Given the description of an element on the screen output the (x, y) to click on. 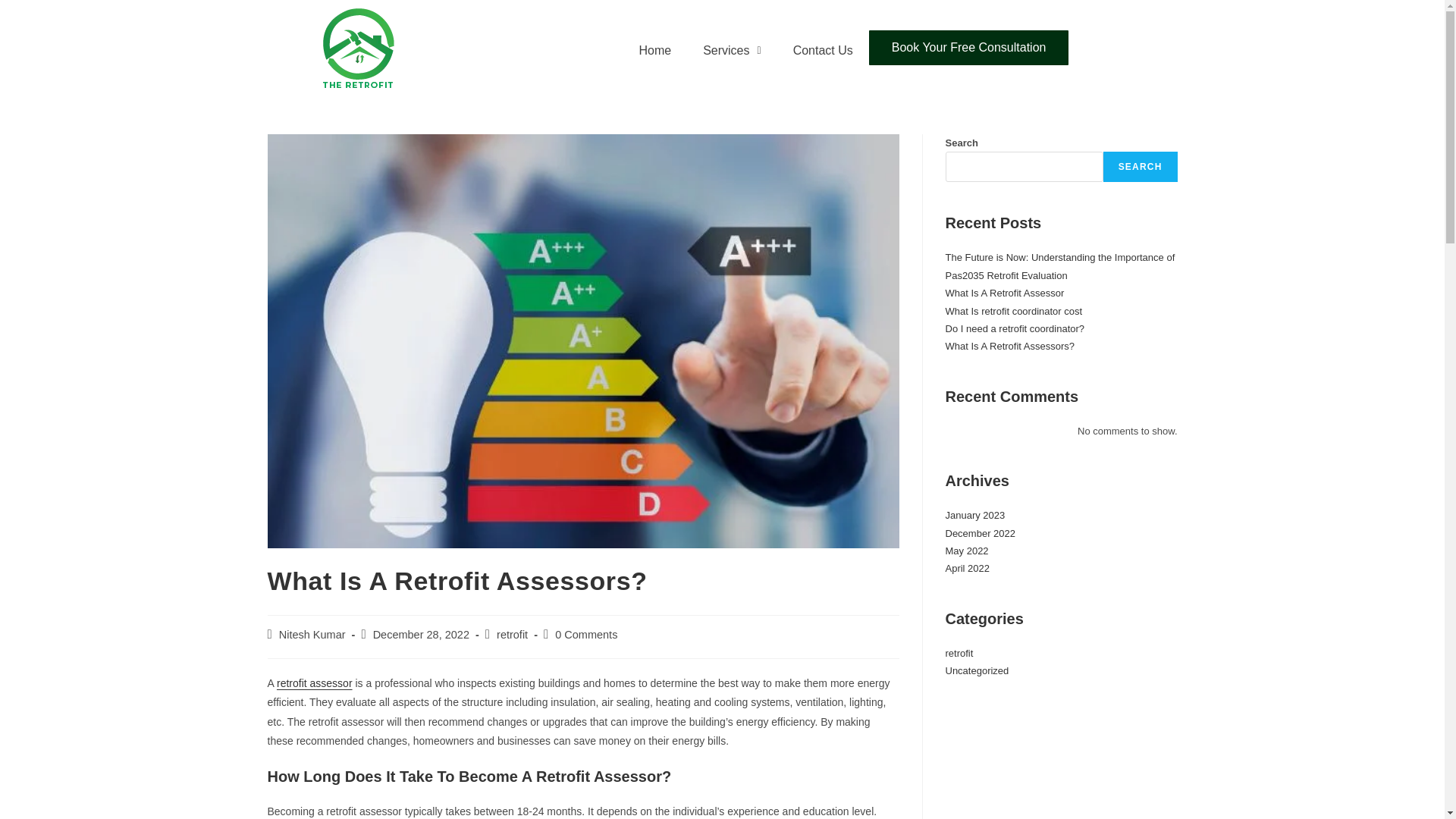
Do I need a retrofit coordinator? (1014, 328)
retrofit (511, 634)
What Is A Retrofit Assessor (1004, 292)
Nitesh Kumar (312, 634)
May 2022 (966, 550)
Uncategorized (976, 670)
SEARCH (1140, 166)
January 2023 (974, 514)
Services (731, 50)
Posts by Nitesh Kumar (312, 634)
retrofit assessor (314, 683)
April 2022 (967, 568)
Book Your Free Consultation (968, 47)
retrofit (958, 653)
0 Comments (585, 634)
